Given the description of an element on the screen output the (x, y) to click on. 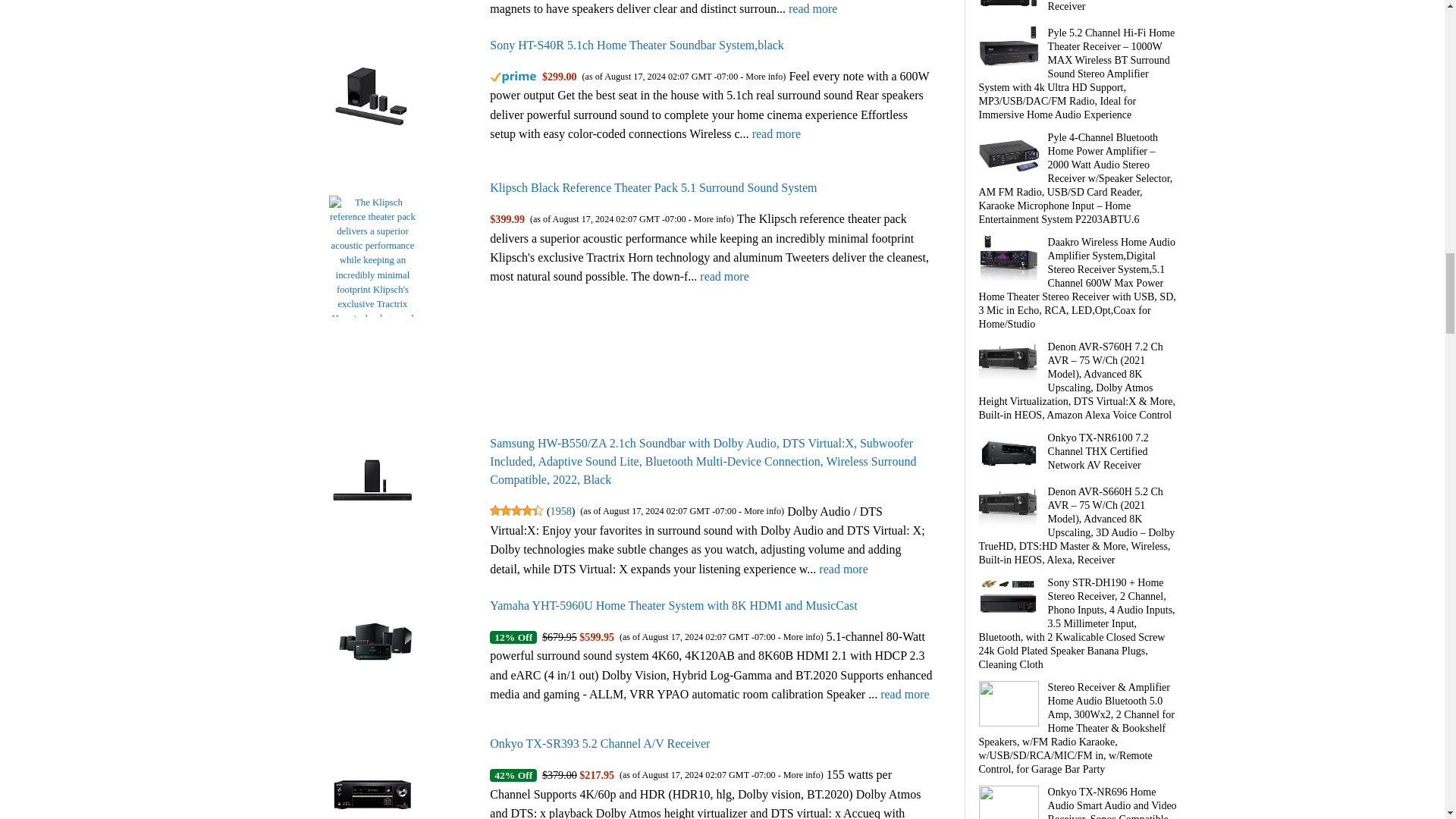
read more (813, 8)
